Given the description of an element on the screen output the (x, y) to click on. 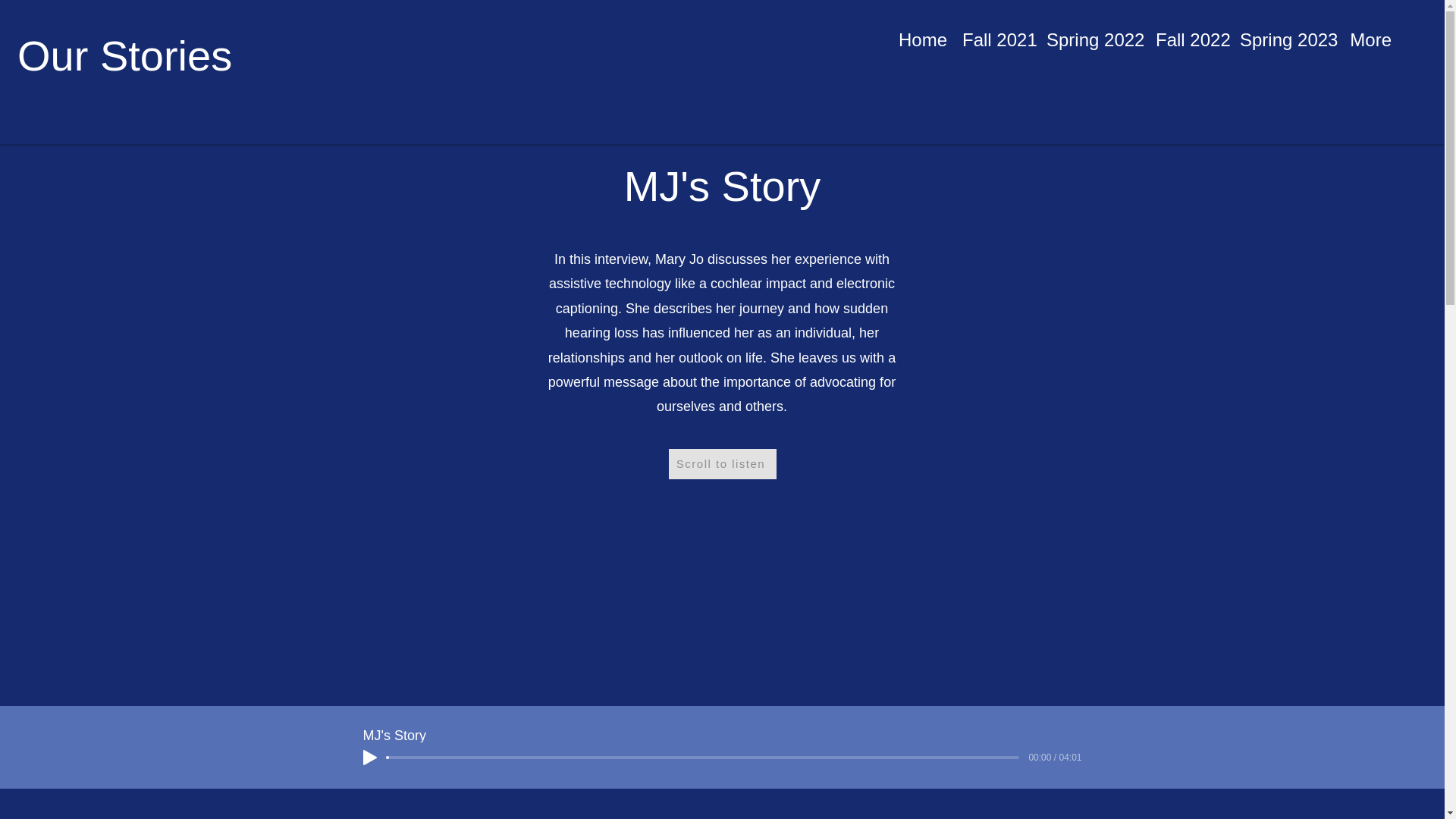
Spring 2023 (1285, 35)
Spring 2022 (1093, 35)
Fall 2022 (1189, 35)
Home (923, 35)
0 (703, 757)
Scroll to listen (722, 463)
Fall 2021 (997, 35)
